Given the description of an element on the screen output the (x, y) to click on. 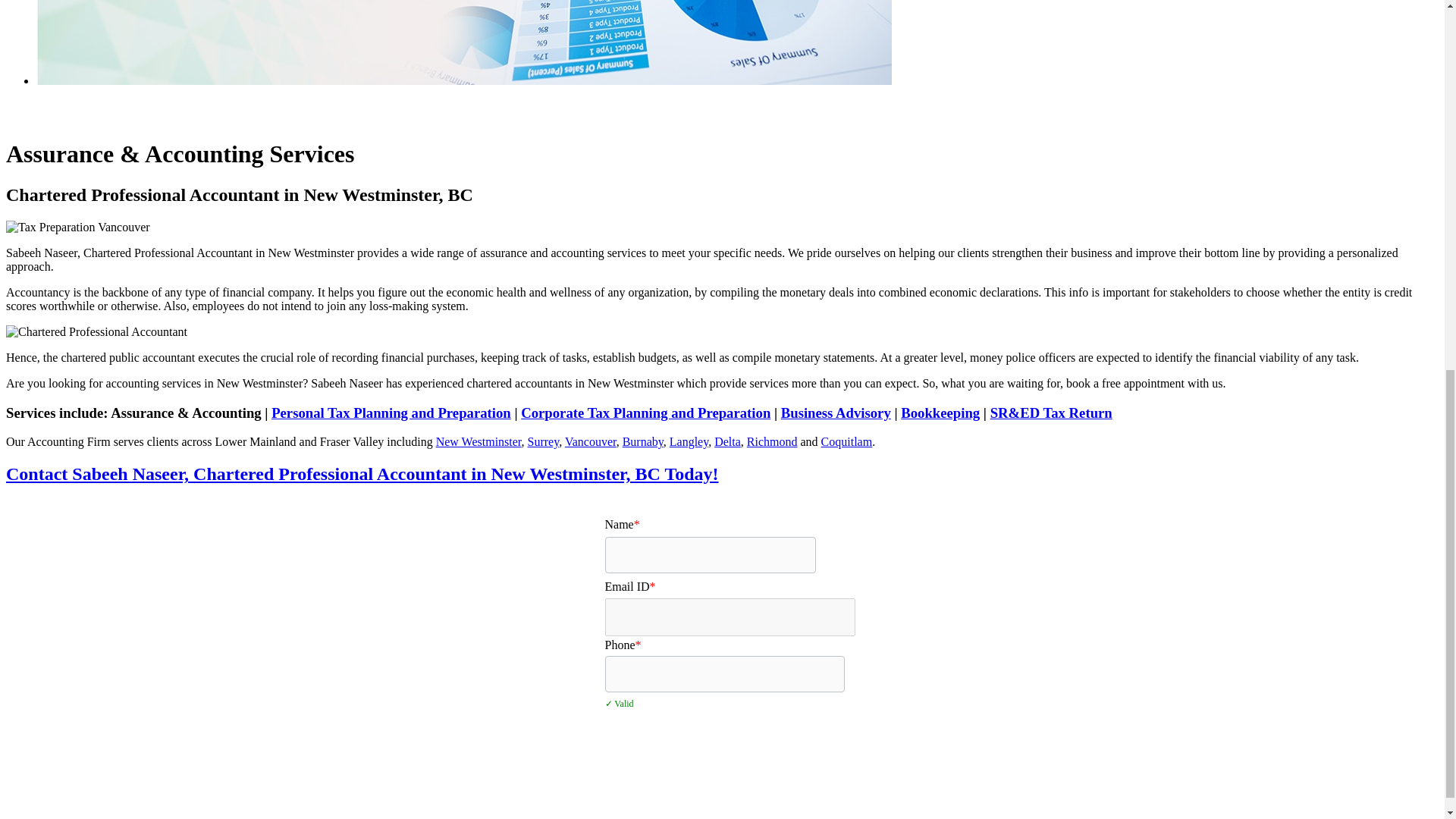
Surrey (543, 440)
Delta (727, 440)
Corporate Tax Planning and Preparation (645, 412)
New Westminster (478, 440)
Coquitlam (846, 440)
Personal Tax Planning and Preparation (390, 412)
Langley (688, 440)
Burnaby (643, 440)
Vancouver (589, 440)
Richmond (771, 440)
Bookkeeping (940, 412)
Business Advisory (835, 412)
